Given the description of an element on the screen output the (x, y) to click on. 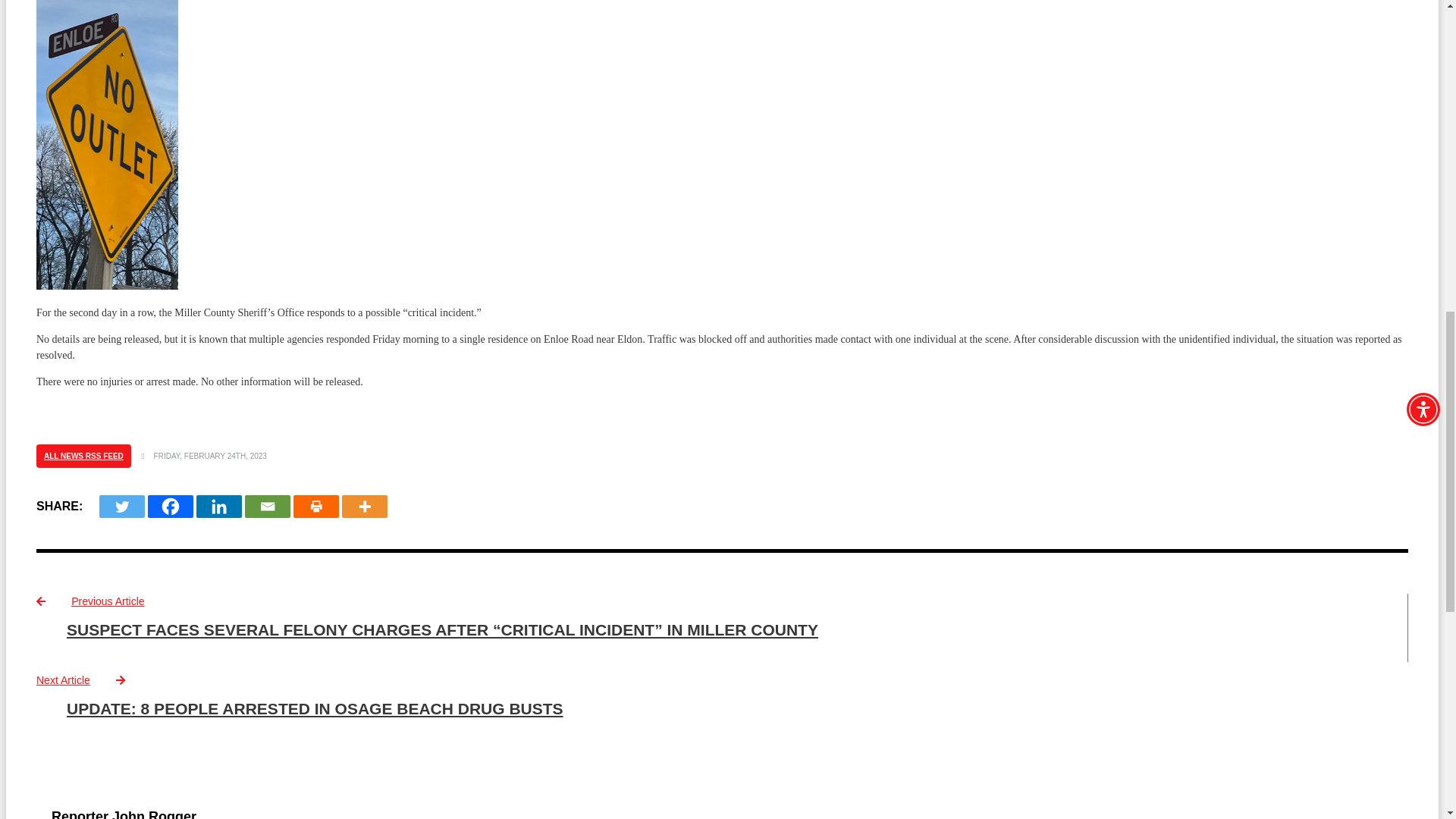
ALL NEWS RSS FEED (83, 455)
